Given the description of an element on the screen output the (x, y) to click on. 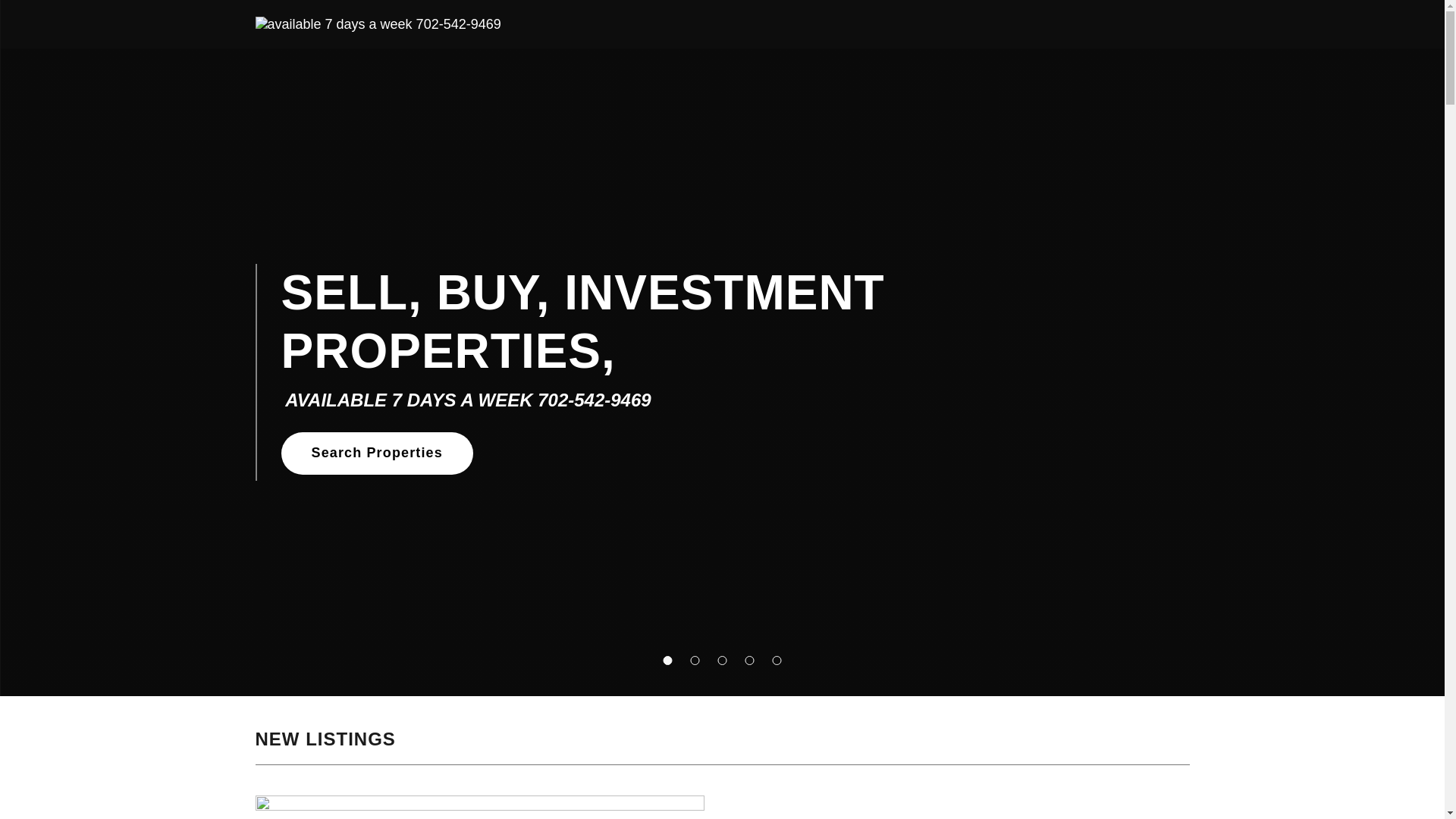
available 7 days a week  702-542-9469  (377, 23)
Search Properties (376, 453)
